Given the description of an element on the screen output the (x, y) to click on. 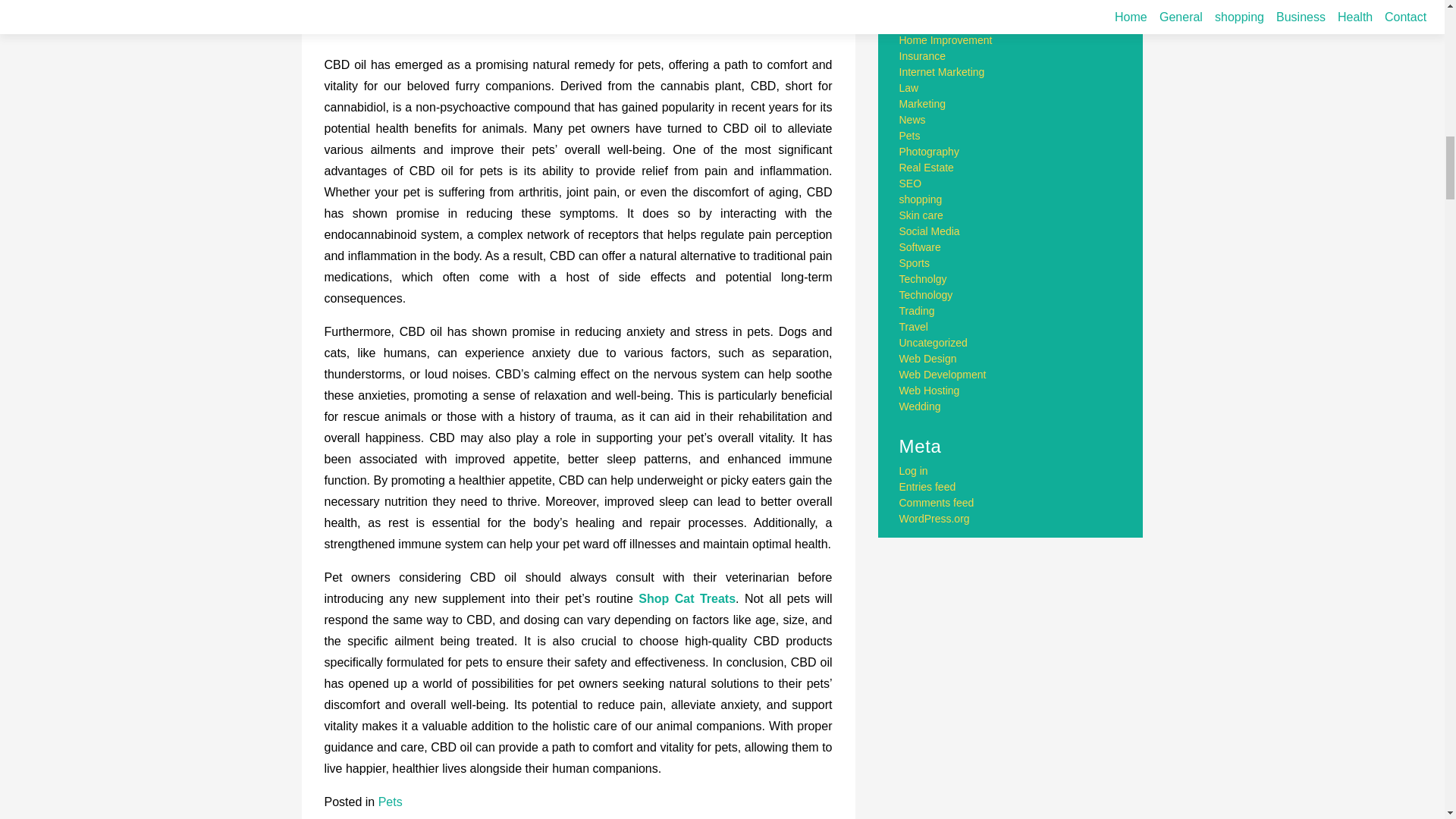
James (529, 24)
Pets (390, 801)
September 24, 2023 (436, 24)
Shop Cat Treats (687, 598)
